Given the description of an element on the screen output the (x, y) to click on. 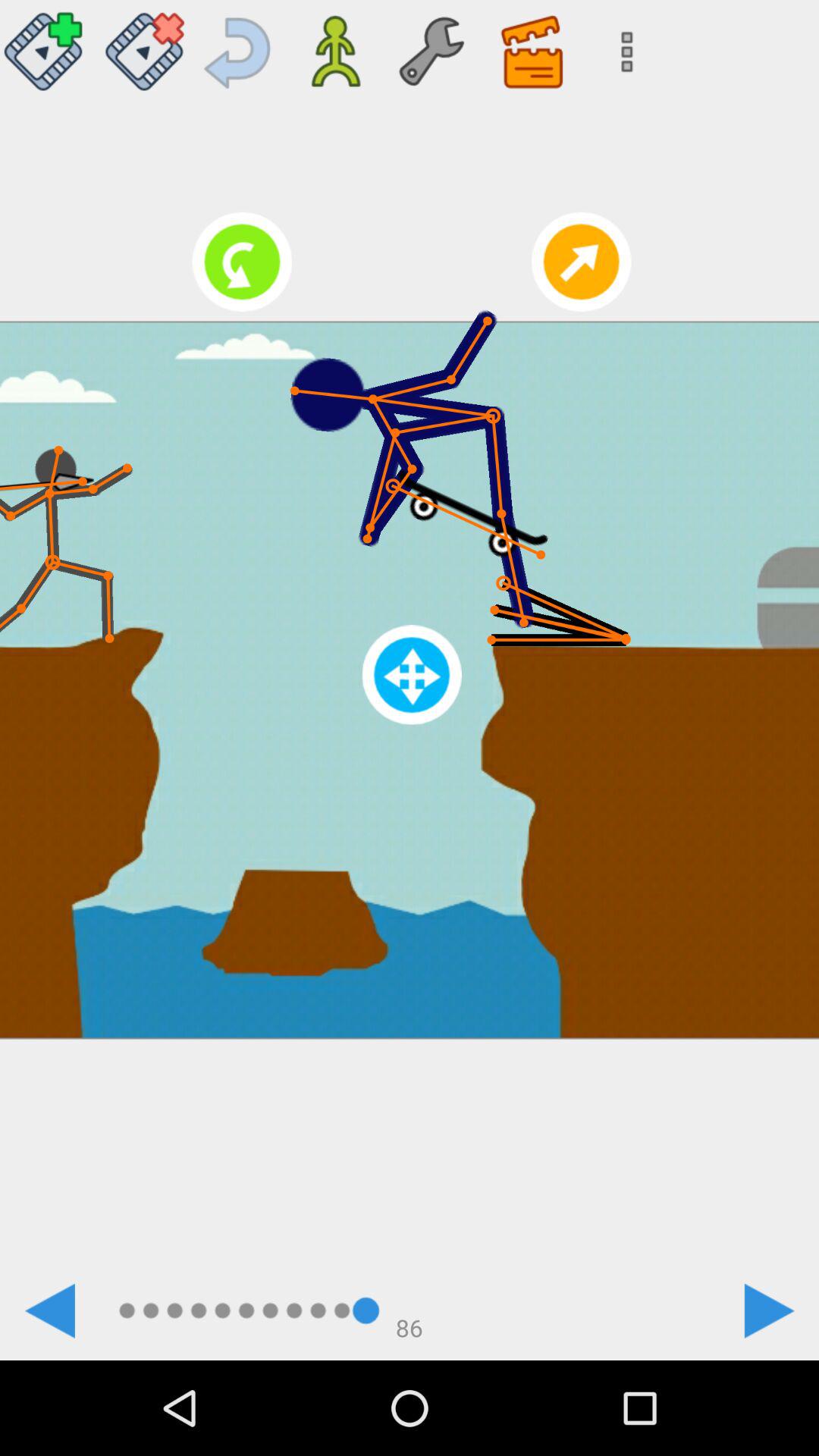
search (621, 45)
